Given the description of an element on the screen output the (x, y) to click on. 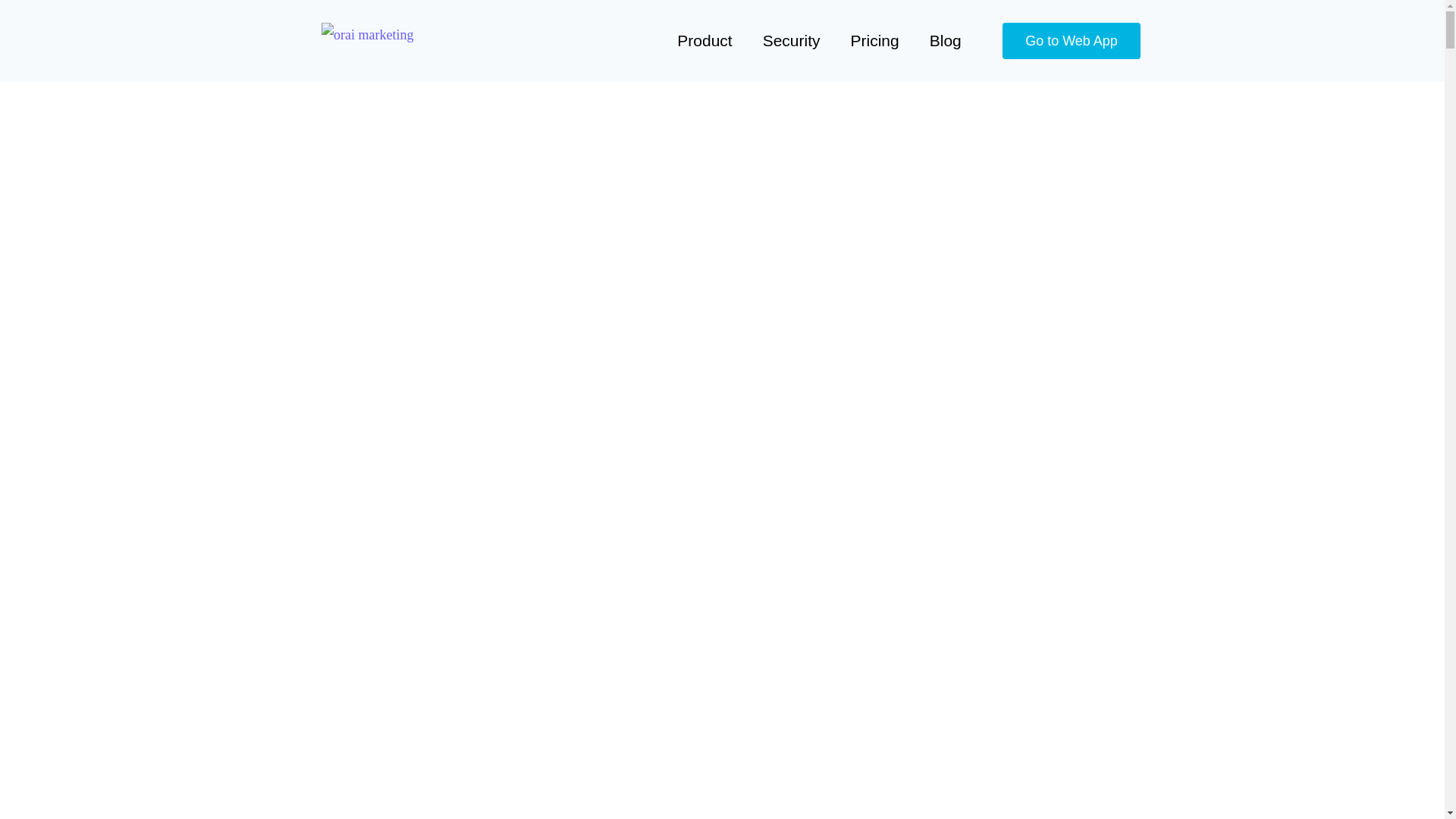
Blog (945, 40)
Go to Web App (1071, 40)
Pricing (874, 40)
Security (791, 40)
Product (704, 40)
